Given the description of an element on the screen output the (x, y) to click on. 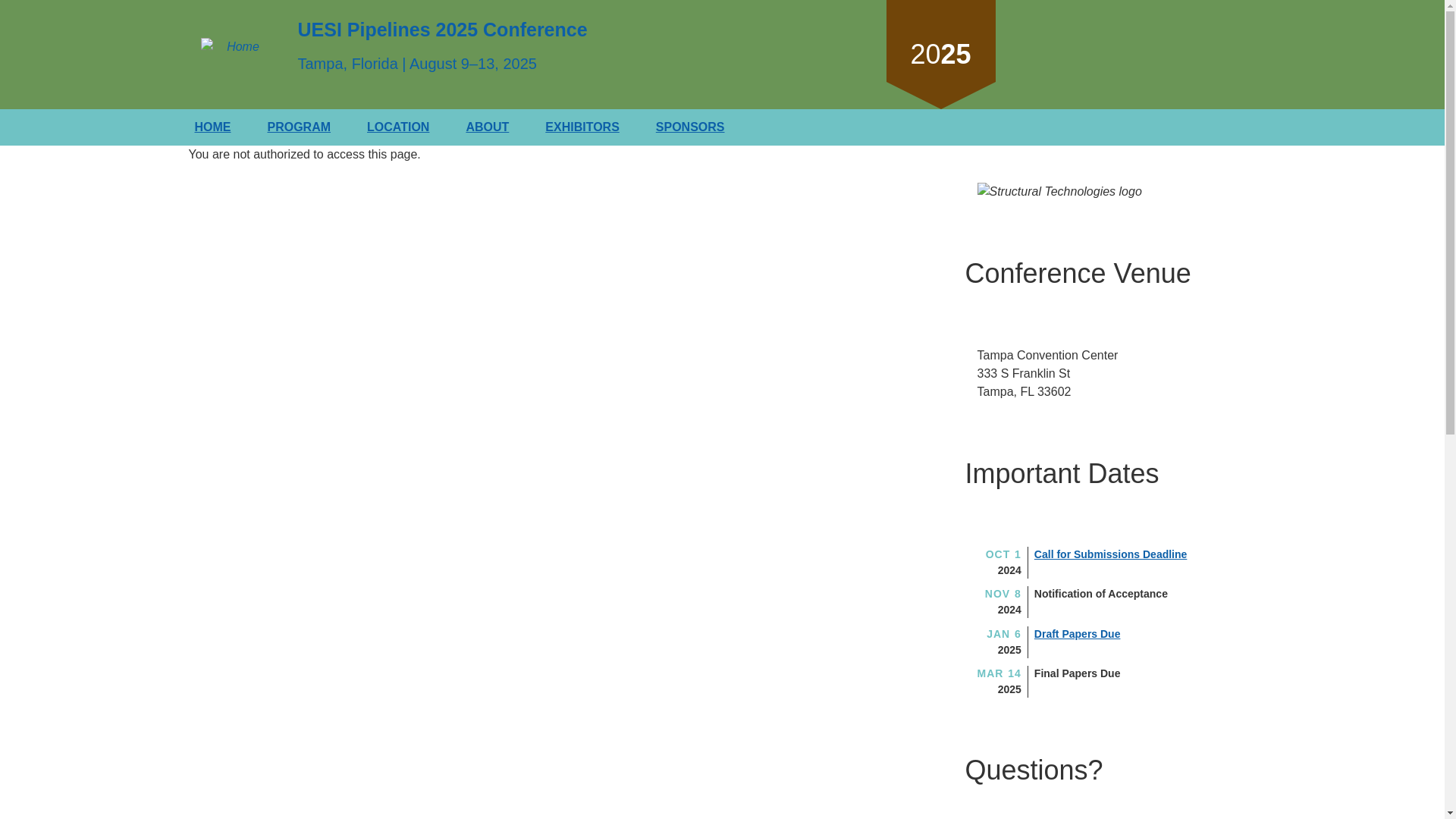
Home (212, 126)
Final Papers Due (1077, 673)
About (486, 126)
Draft Papers Due (1077, 633)
PROGRAM (298, 126)
ABOUT (486, 126)
EXHIBITORS (582, 126)
LOCATION (397, 126)
Exhibitors (582, 126)
SPONSORS (689, 126)
